Given the description of an element on the screen output the (x, y) to click on. 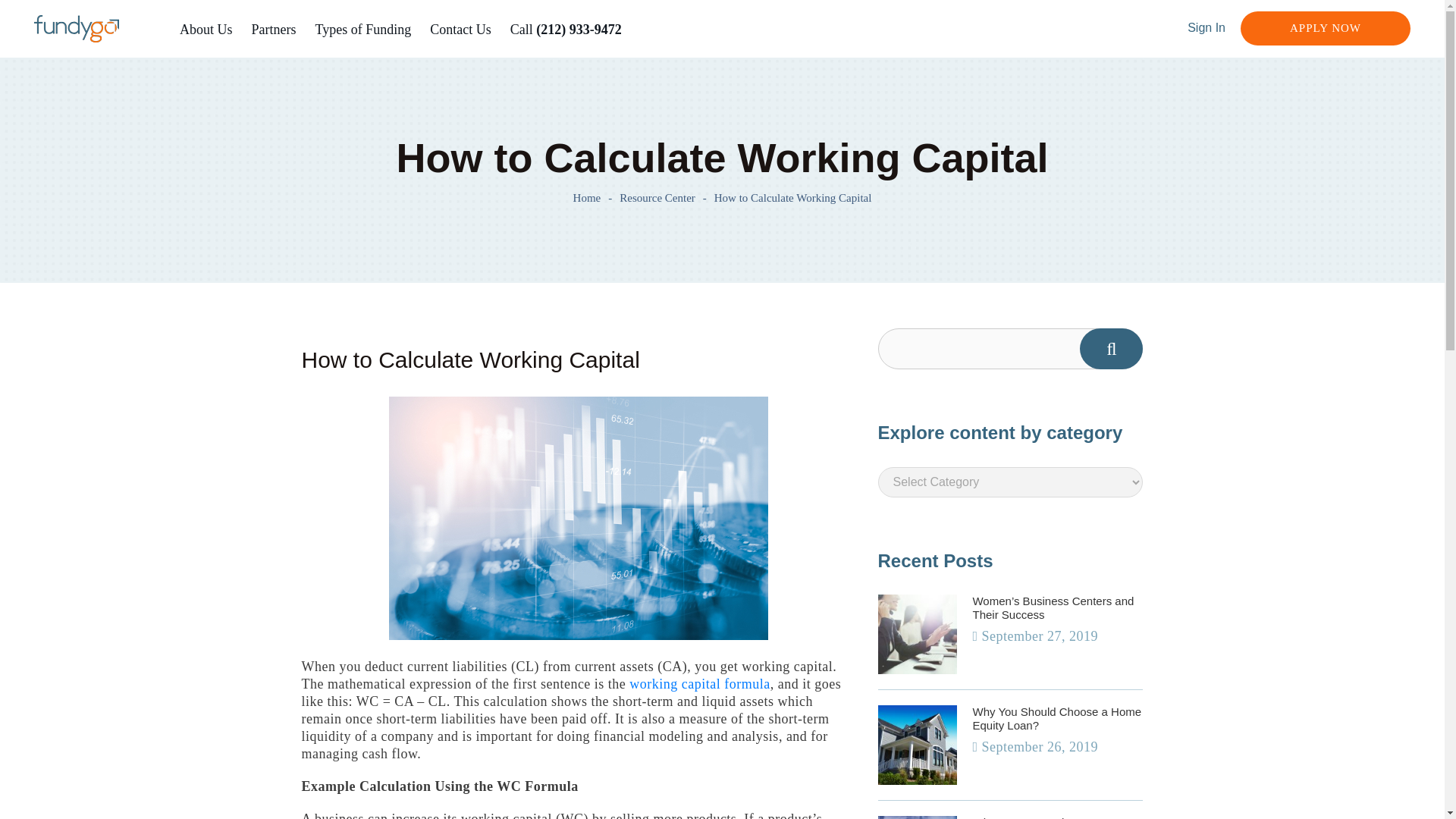
Why Do New Business Owners Seek Revenue-Based Financing? (1056, 817)
APPLY NOW (1325, 28)
How to Calculate Working Capital (793, 197)
Why You Should Choose a Home Equity Loan? (1056, 718)
working capital formula (699, 683)
Sign In (1206, 27)
About Us (205, 29)
Partners (274, 29)
Contact Us (460, 29)
Resource Center (657, 197)
Types of Funding (363, 29)
Home (587, 197)
